Given the description of an element on the screen output the (x, y) to click on. 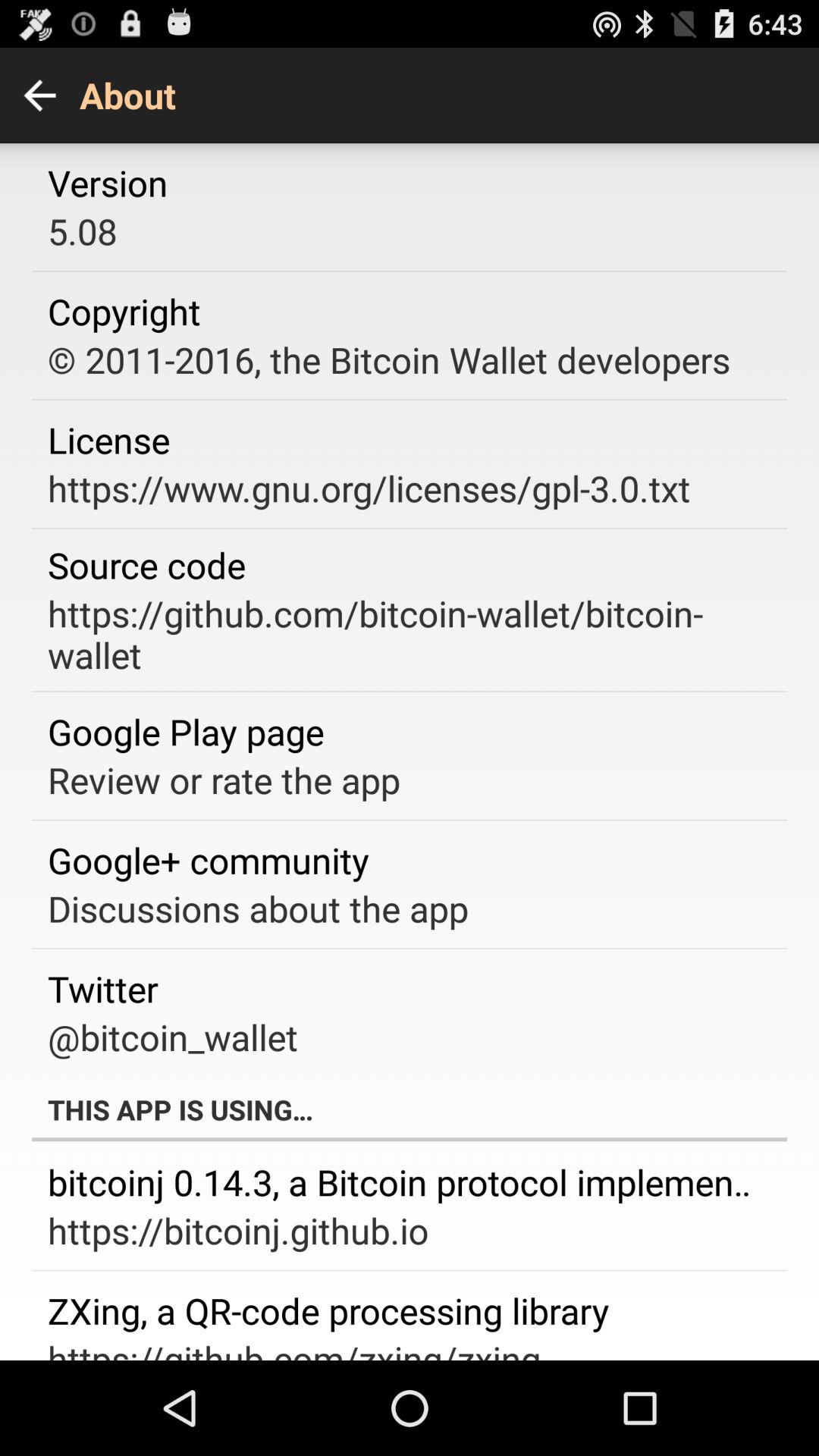
flip to the license icon (108, 439)
